Given the description of an element on the screen output the (x, y) to click on. 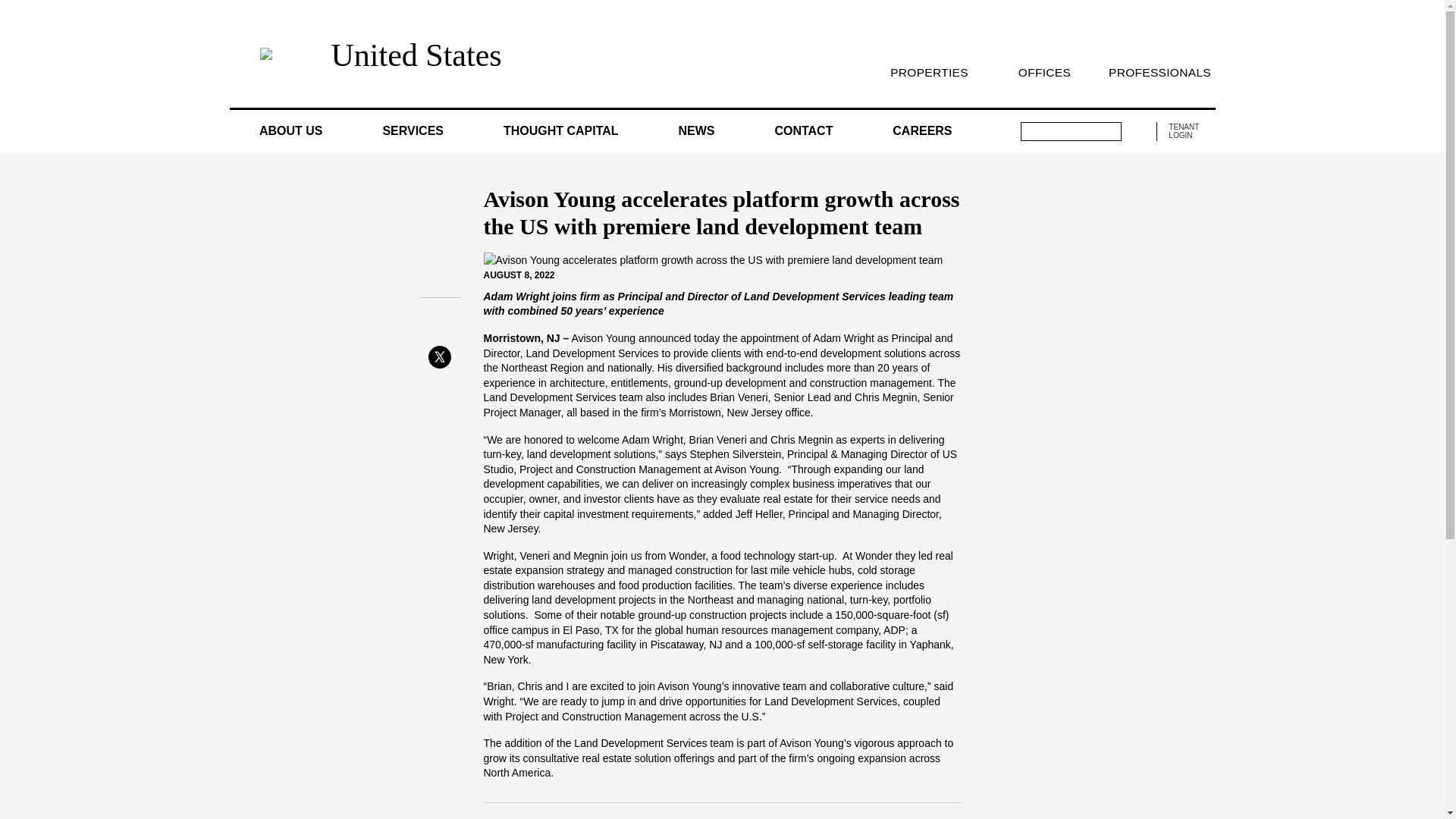
United States (415, 54)
PROPERTIES (928, 72)
OFFICES (1043, 72)
Skip to Main Content (5, 5)
